Given the description of an element on the screen output the (x, y) to click on. 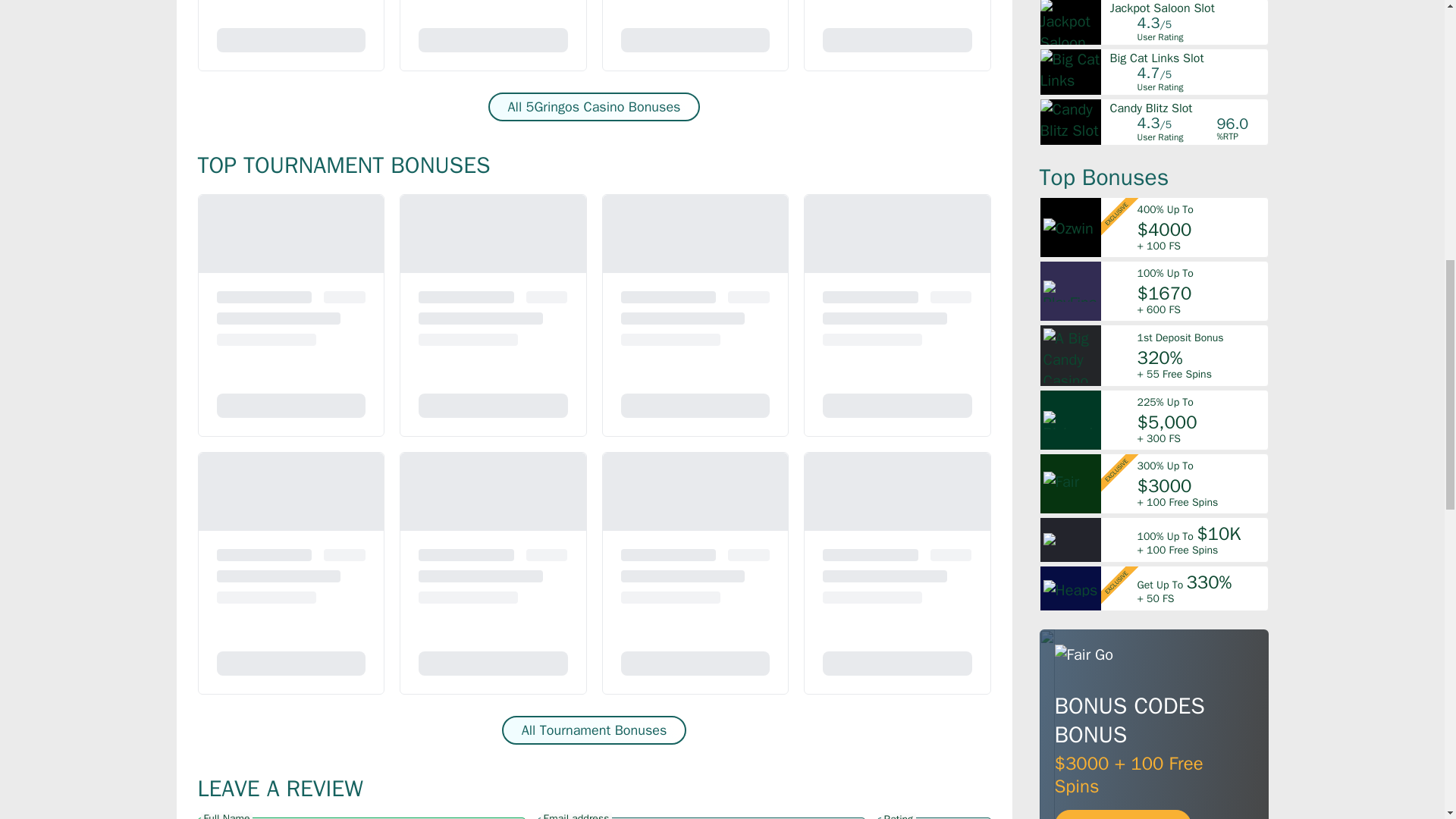
Jackpot Saloon Slot (1187, 8)
Candy Blitz Slot (1187, 108)
Big Cat Links Slot (1187, 58)
